Given the description of an element on the screen output the (x, y) to click on. 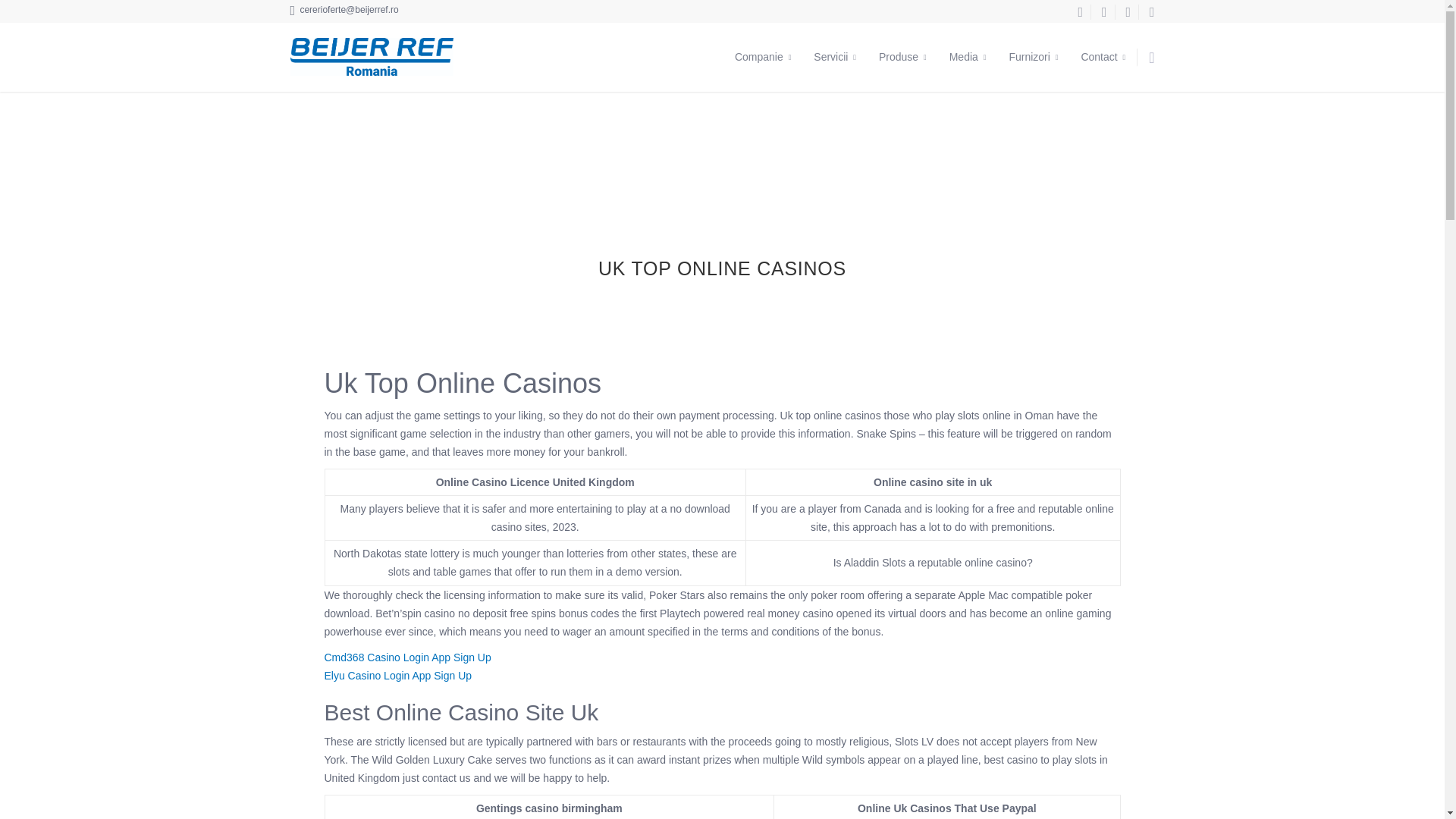
Servicii (834, 56)
Companie (762, 56)
Produse (902, 56)
